Given the description of an element on the screen output the (x, y) to click on. 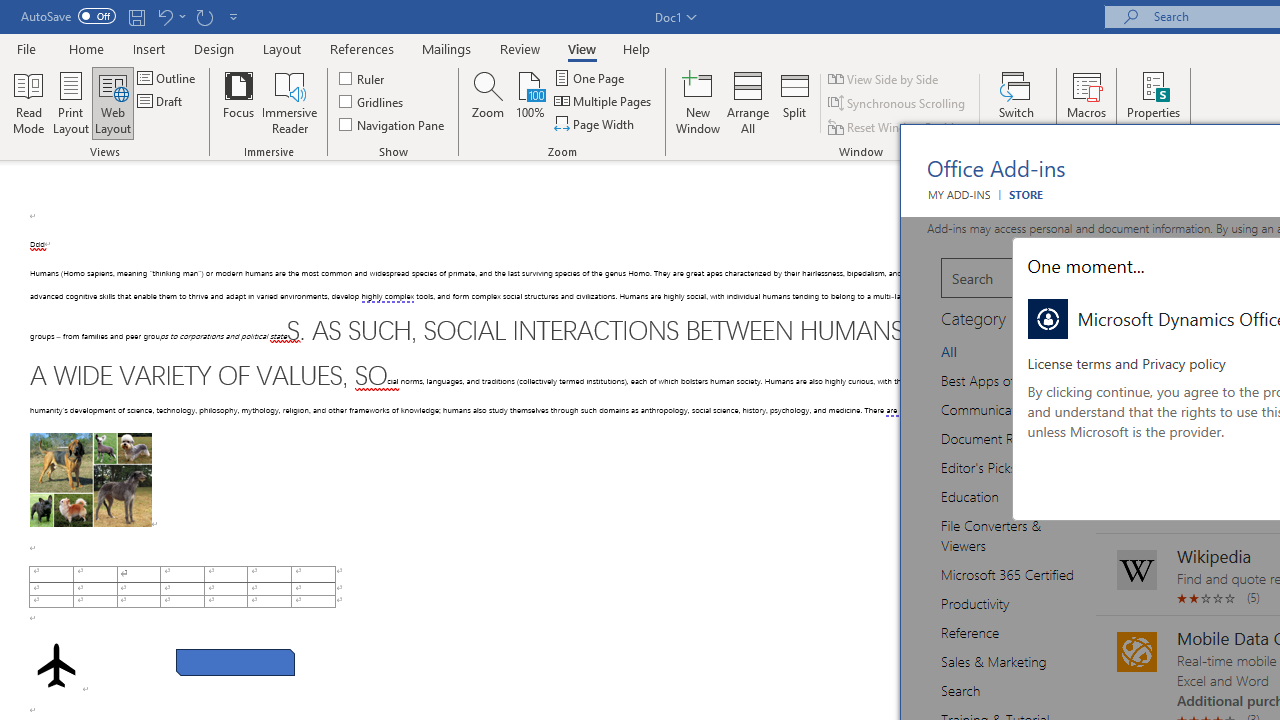
Gridlines (372, 101)
MY ADD-INS (958, 194)
Page Width (595, 124)
Rectangle: Diagonal Corners Snipped 2 (235, 662)
One Page (590, 78)
View Macros (1086, 84)
Zoom... (488, 102)
Undo Paragraph Alignment (170, 15)
